Given the description of an element on the screen output the (x, y) to click on. 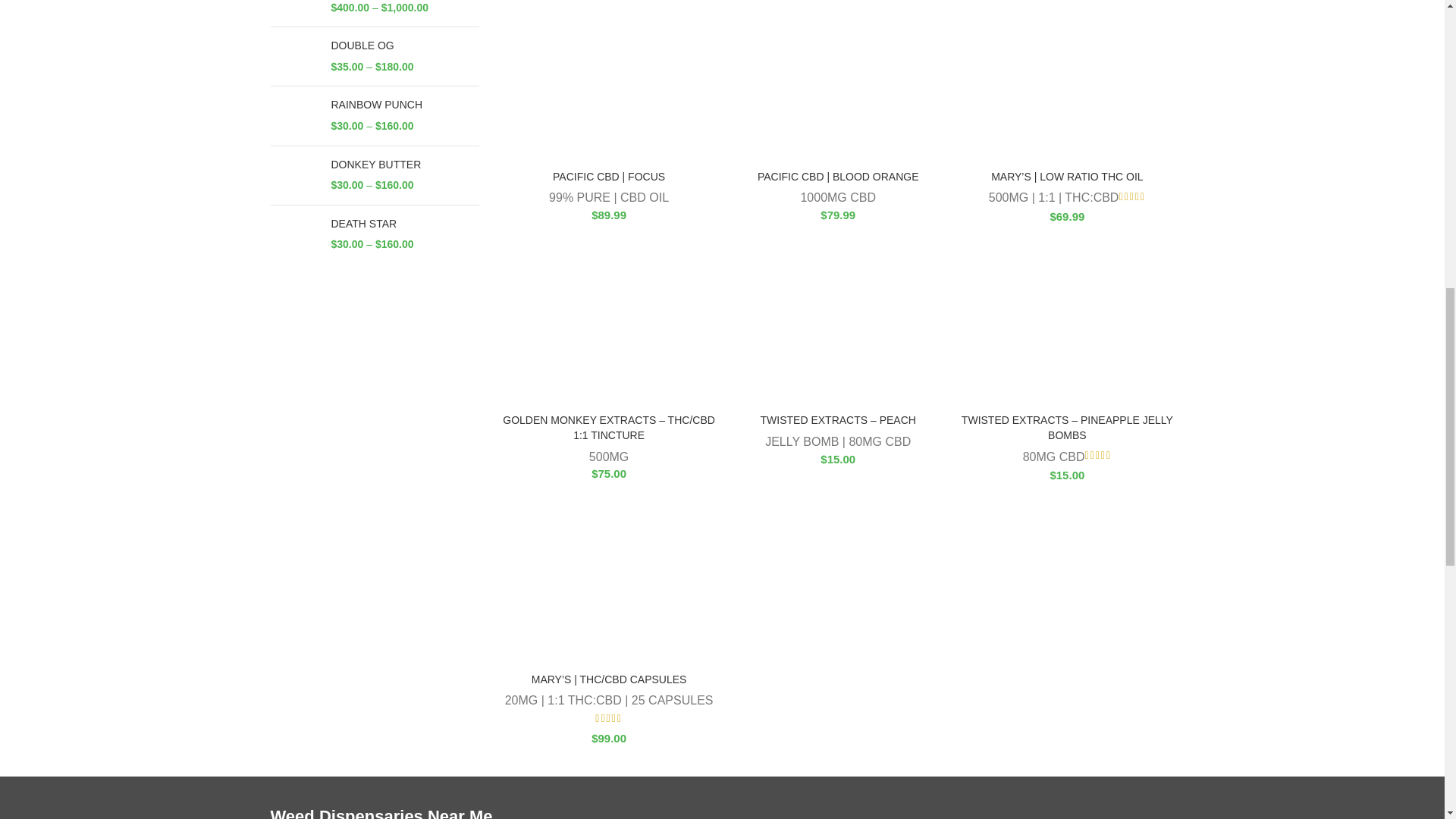
DONKEY BUTTER (293, 175)
DOUBLE OG (404, 46)
RAINBOW PUNCH (293, 115)
DOUBLE OG (293, 7)
RAINBOW PUNCH (404, 105)
DOUBLE OG (293, 56)
DONKEY BUTTER (404, 165)
DEATH STAR (404, 224)
DEATH STAR (293, 234)
